Given the description of an element on the screen output the (x, y) to click on. 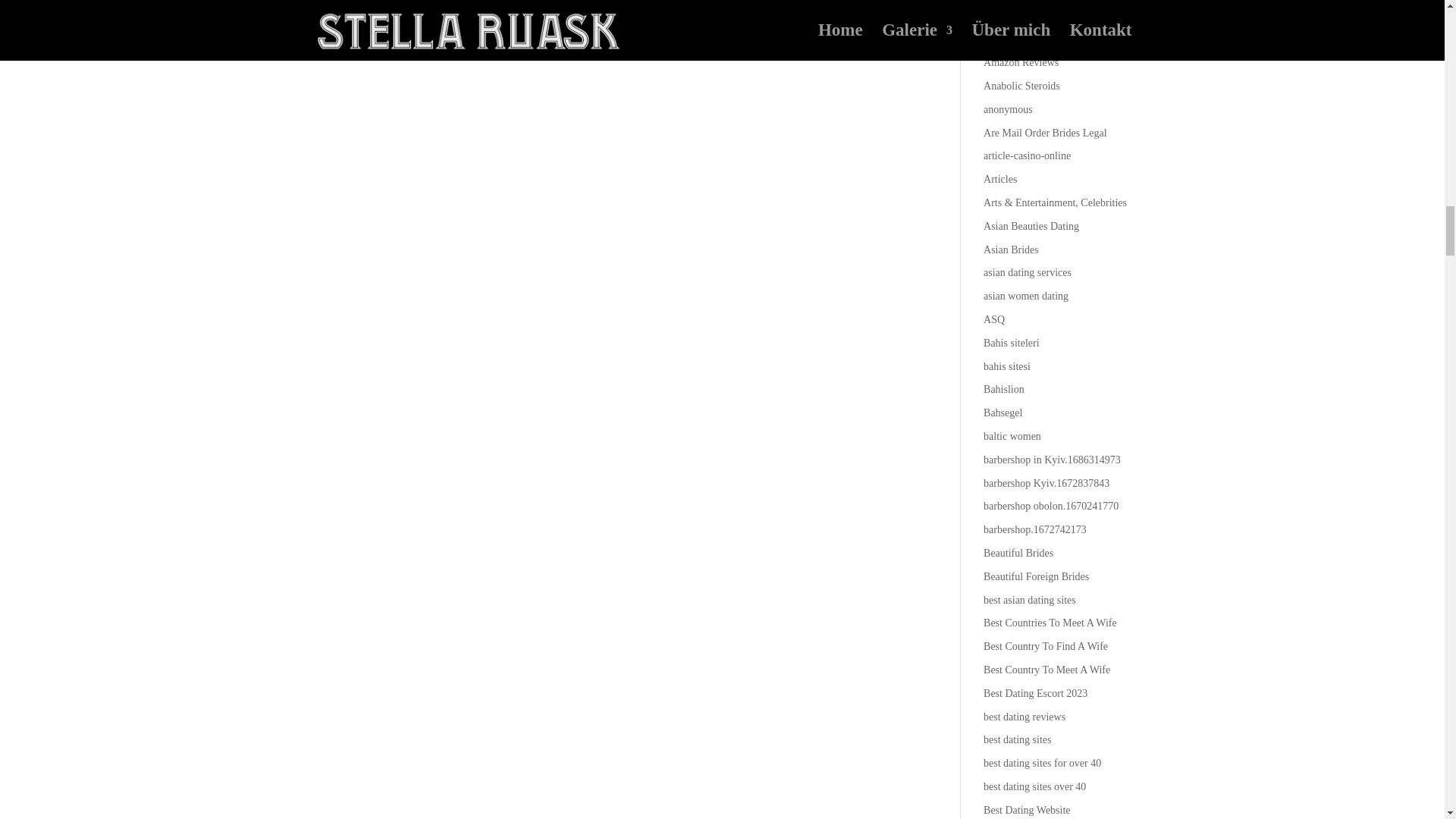
anonymous (1008, 109)
